Given the description of an element on the screen output the (x, y) to click on. 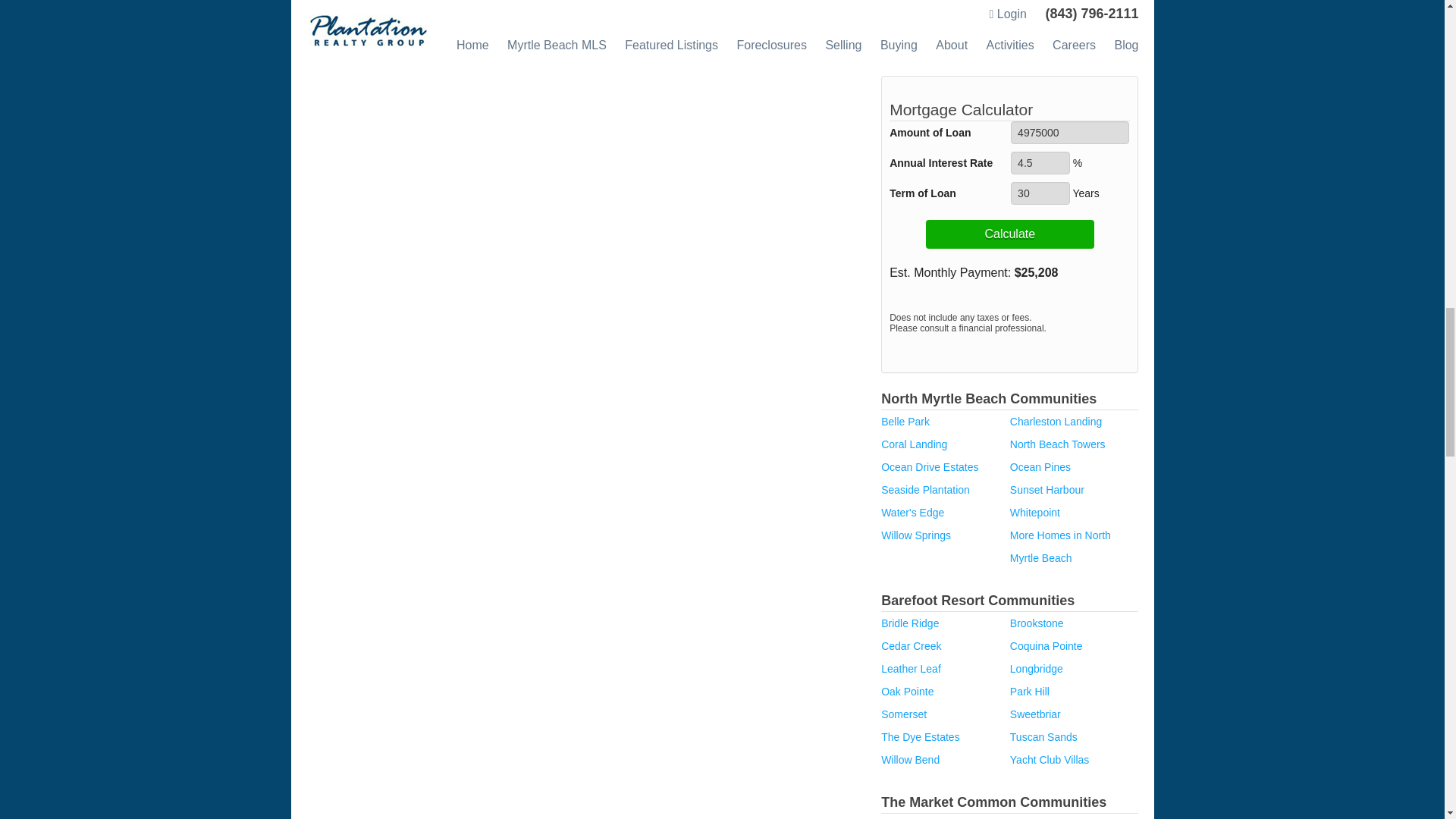
4975000 (1069, 132)
30 (1040, 192)
4.5 (1040, 162)
